Given the description of an element on the screen output the (x, y) to click on. 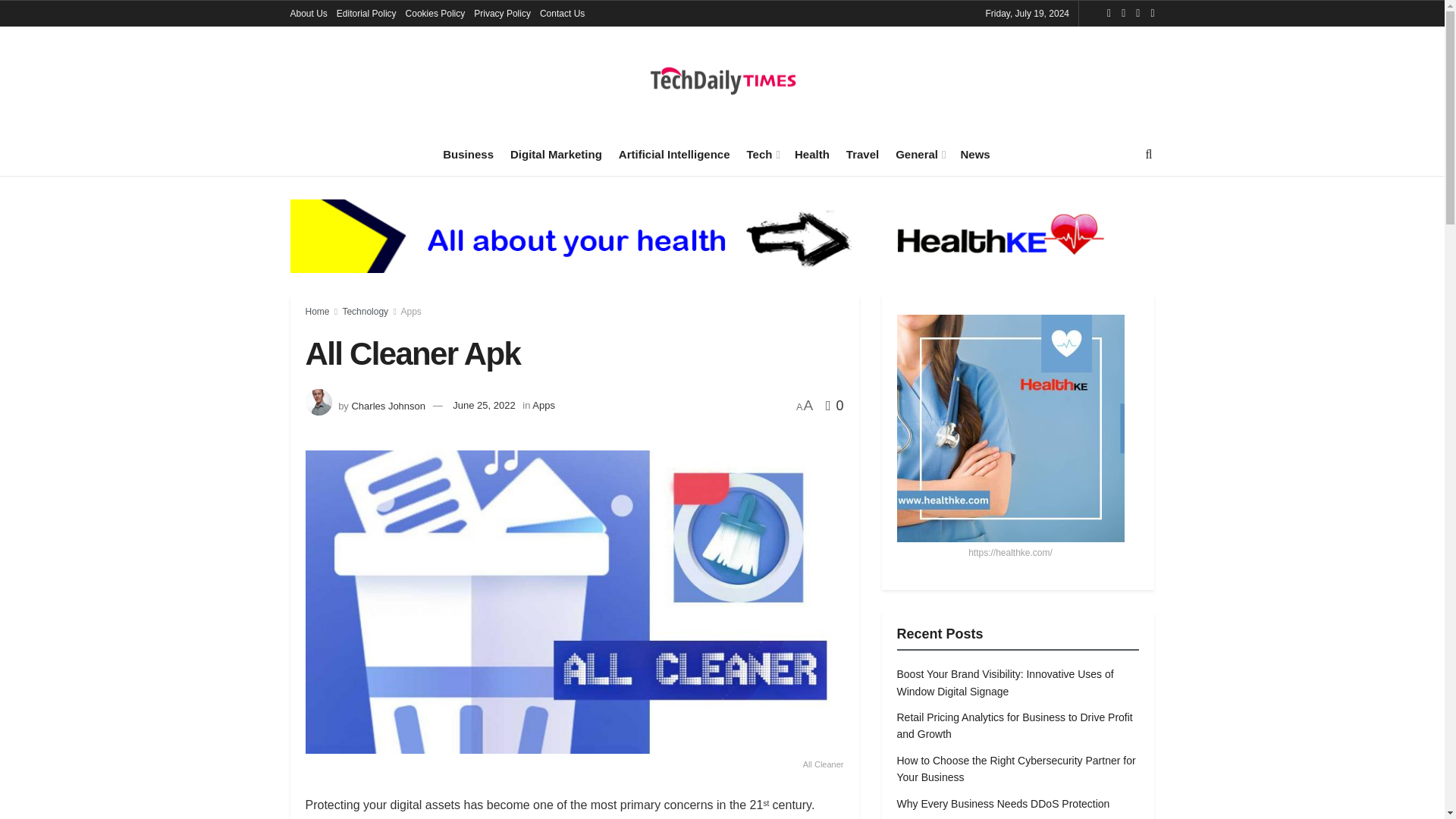
Business (467, 154)
Privacy Policy (502, 13)
Digital Marketing (556, 154)
General (919, 154)
About Us (307, 13)
Contact Us (562, 13)
Editorial Policy (366, 13)
Cookies Policy (435, 13)
Artificial Intelligence (674, 154)
